Given the description of an element on the screen output the (x, y) to click on. 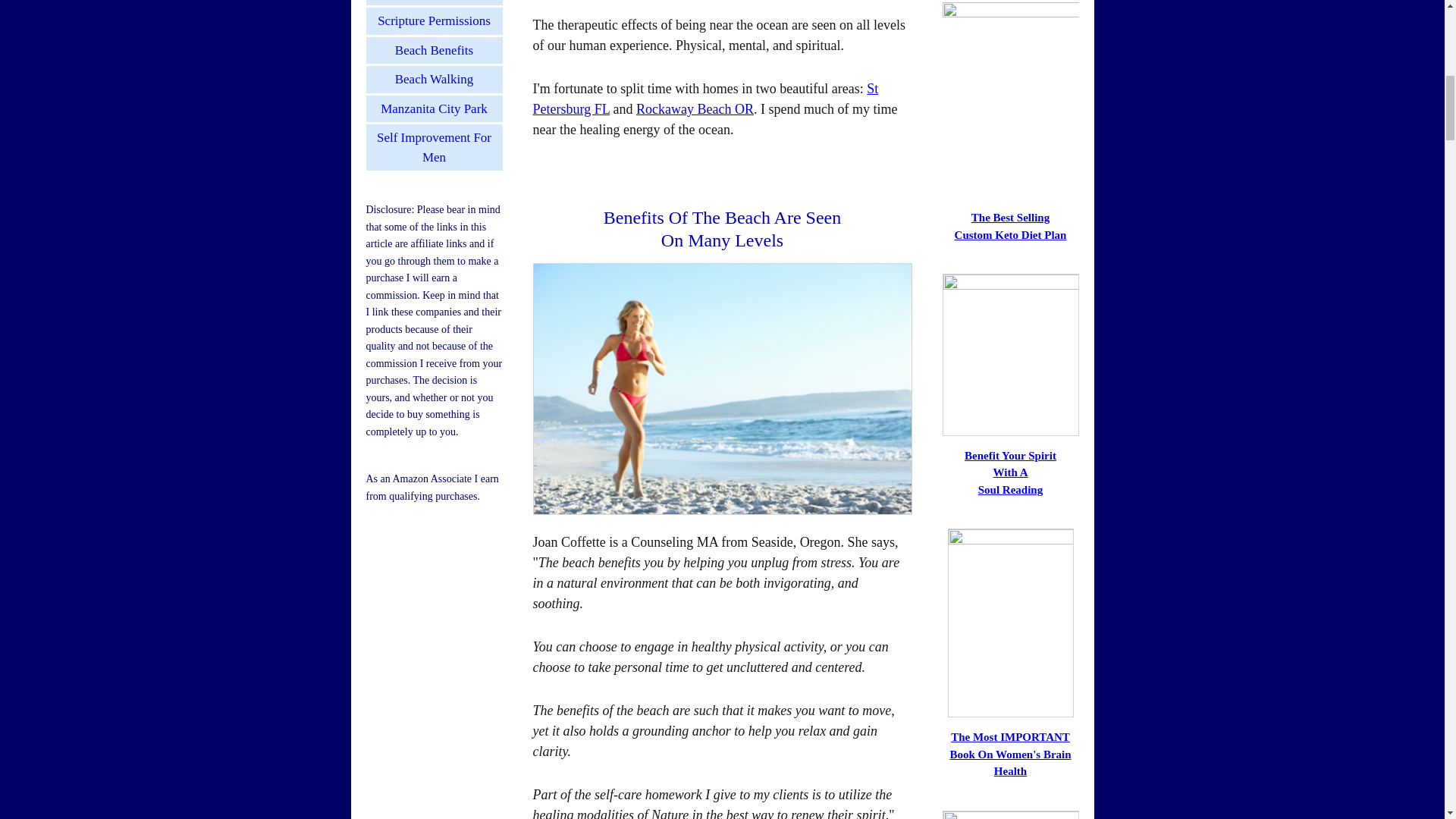
Rockaway Beach OR (695, 109)
St Petersburg FL (704, 99)
